Given the description of an element on the screen output the (x, y) to click on. 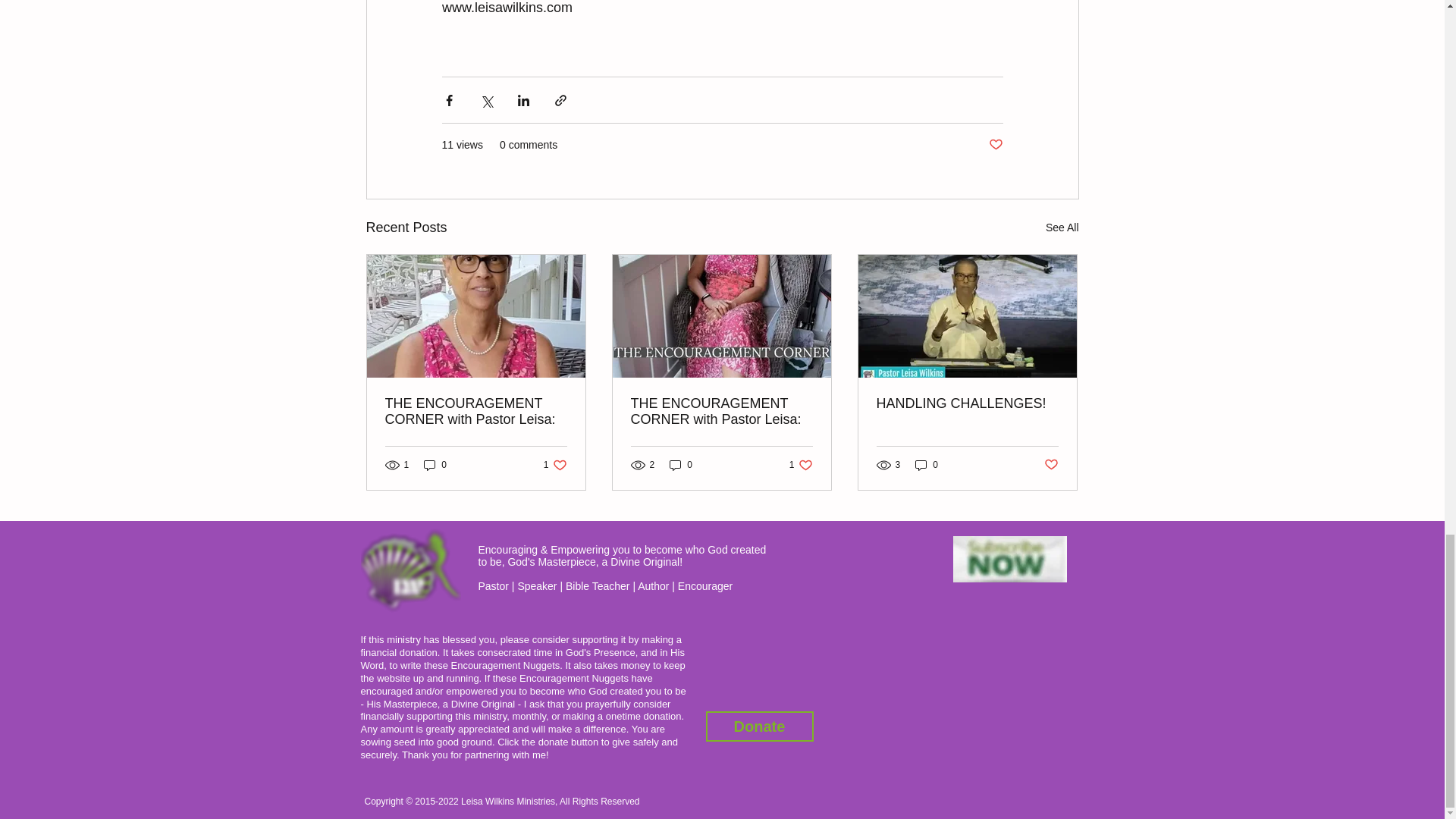
0 (681, 464)
0 (926, 464)
HANDLING CHALLENGES! (967, 403)
Post not marked as liked (1050, 465)
THE ENCOURAGEMENT CORNER with Pastor Leisa: (476, 411)
See All (800, 464)
0 (1061, 228)
Donate (435, 464)
THE ENCOURAGEMENT CORNER with Pastor Leisa: (758, 726)
Post not marked as liked (721, 411)
